Given the description of an element on the screen output the (x, y) to click on. 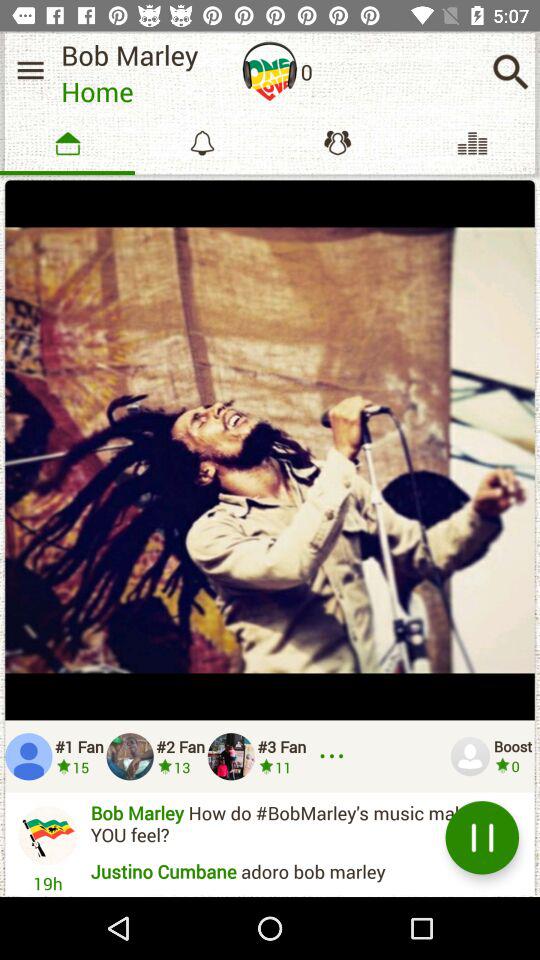
view more options (335, 756)
